Given the description of an element on the screen output the (x, y) to click on. 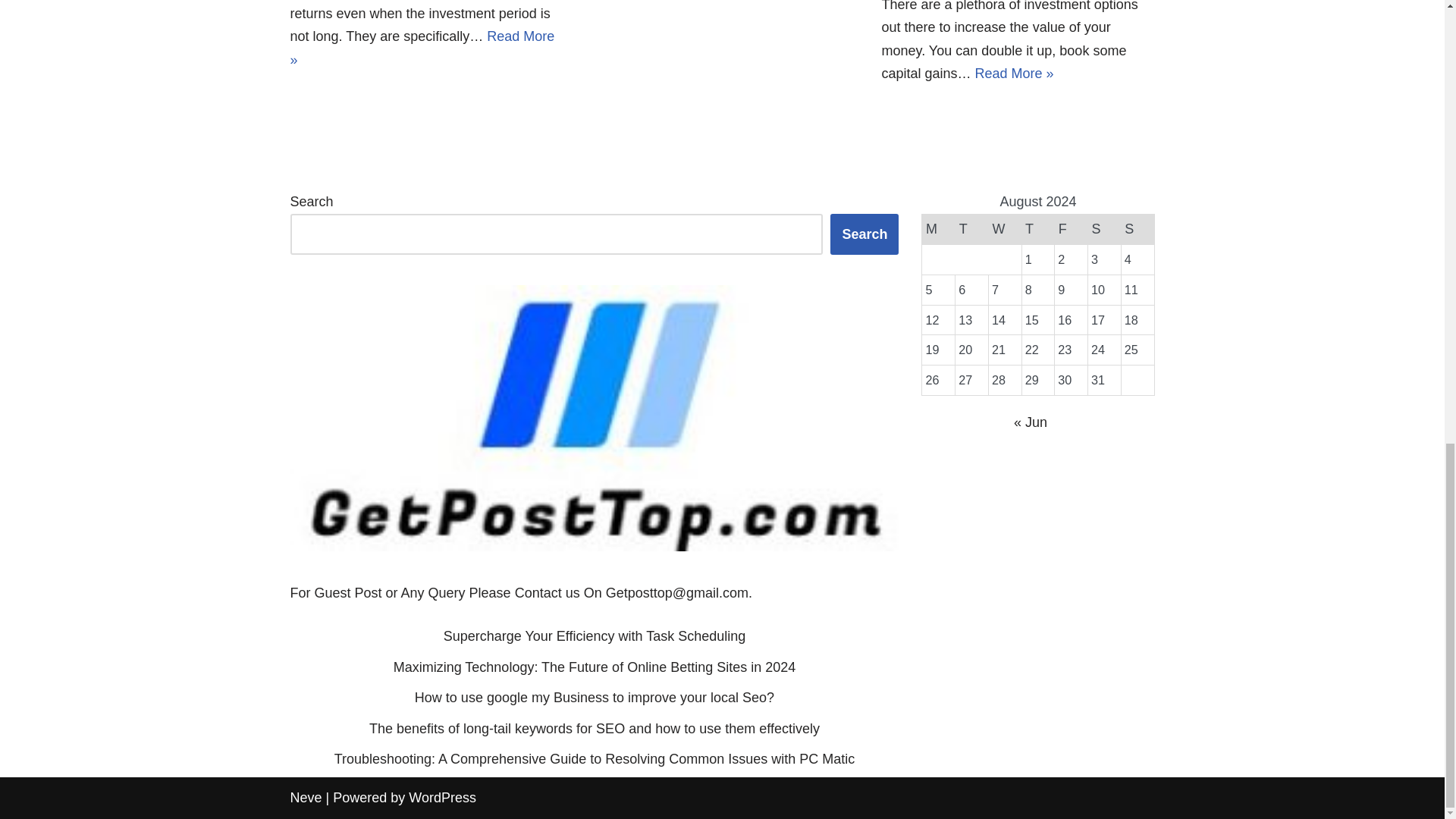
Monday (938, 228)
Tuesday (971, 228)
Wednesday (1005, 228)
